Given the description of an element on the screen output the (x, y) to click on. 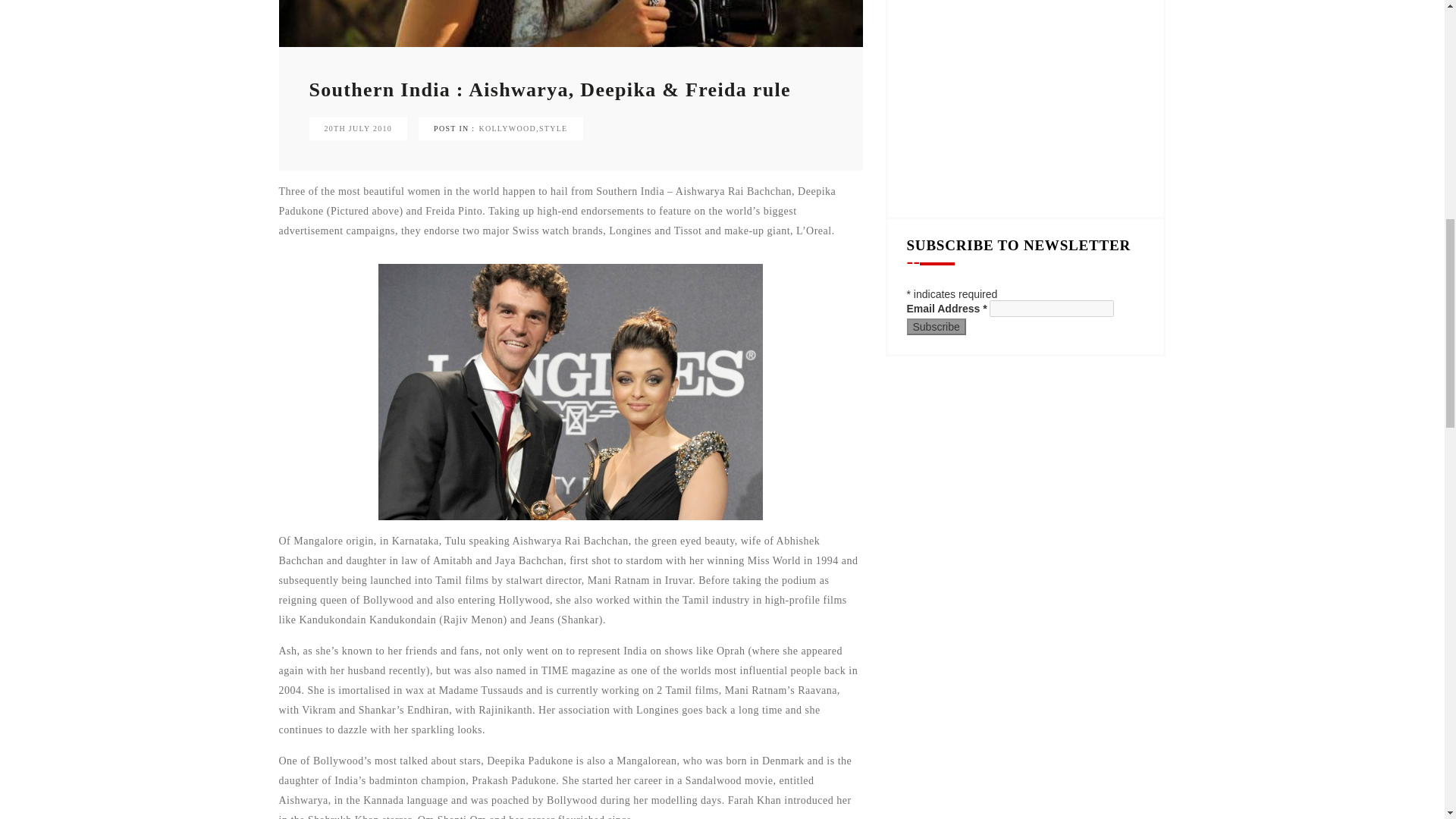
Subscribe (936, 326)
